Given the description of an element on the screen output the (x, y) to click on. 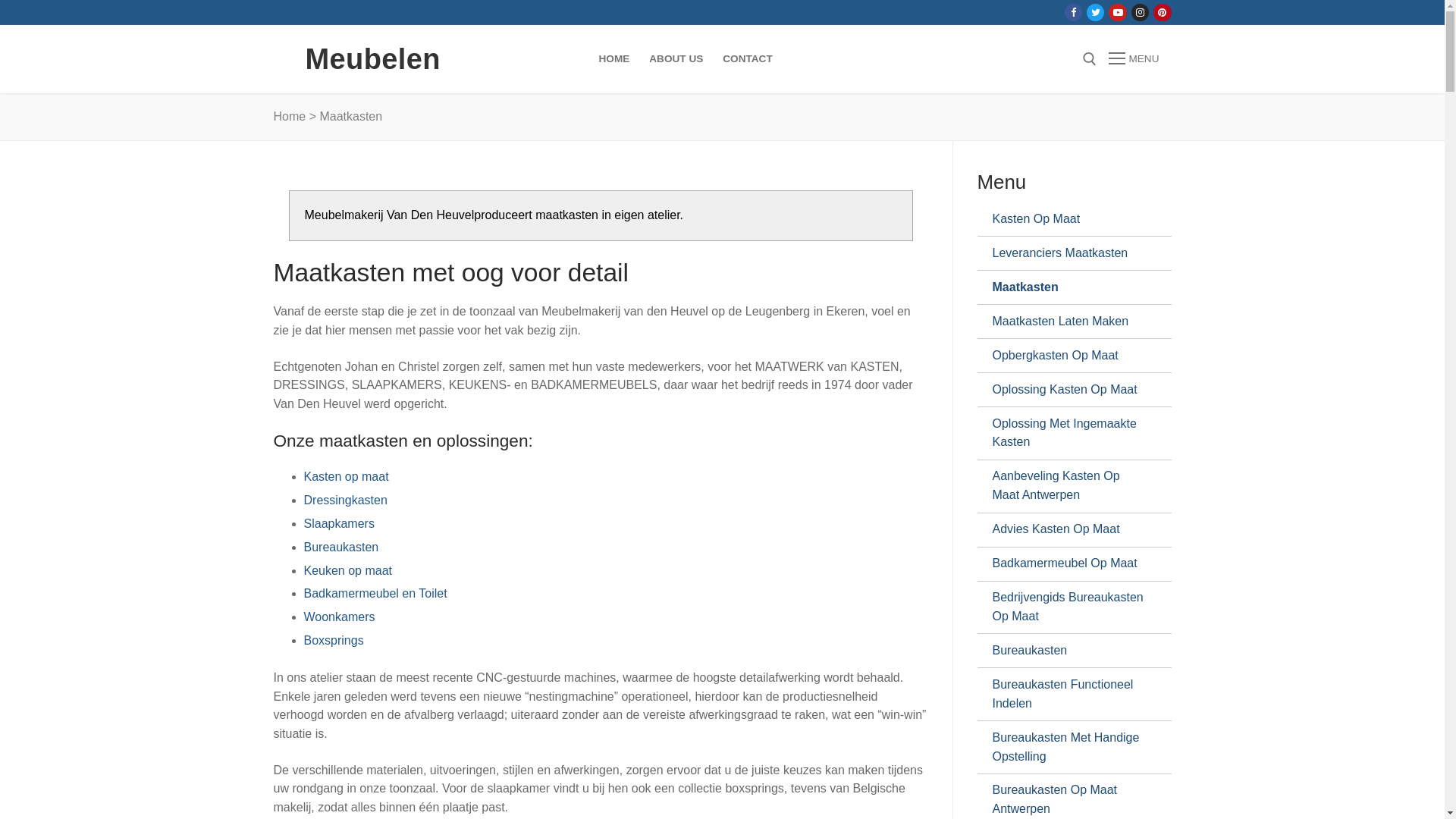
HOME Element type: text (613, 58)
Bureaukasten Met Handige Opstelling Element type: text (1067, 747)
Kasten op maat Element type: text (345, 476)
Opbergkasten Op Maat Element type: text (1067, 355)
Kasten Op Maat Element type: text (1067, 218)
Aanbeveling Kasten Op Maat Antwerpen Element type: text (1067, 486)
ABOUT US Element type: text (675, 58)
Badkamermeubel Op Maat Element type: text (1067, 563)
Meubelen Element type: text (371, 58)
Pinterest Element type: hover (1162, 12)
MENU Element type: text (1133, 59)
CONTACT Element type: text (746, 58)
Maatkasten Laten Maken Element type: text (1067, 321)
Bedrijvengids Bureaukasten Op Maat Element type: text (1067, 607)
Keuken op maat Element type: text (347, 570)
Oplossing Met Ingemaakte Kasten Element type: text (1067, 433)
Woonkamers Element type: text (338, 616)
Bureaukasten Functioneel Indelen Element type: text (1067, 694)
Twitter Element type: hover (1095, 12)
Dressingkasten Element type: text (344, 499)
Spring naar de inhoud Element type: text (0, 0)
Maatkasten Element type: text (1067, 287)
Youtube Element type: hover (1118, 12)
Facebook Element type: hover (1073, 12)
Leveranciers Maatkasten Element type: text (1067, 252)
Boxsprings Element type: text (333, 639)
Bureaukasten Element type: text (340, 546)
Slaapkamers Element type: text (338, 523)
Oplossing Kasten Op Maat Element type: text (1067, 389)
Instagram Element type: hover (1140, 12)
Badkamermeubel en Toilet Element type: text (374, 592)
Advies Kasten Op Maat Element type: text (1067, 529)
Bureaukasten Element type: text (1067, 650)
